Given the description of an element on the screen output the (x, y) to click on. 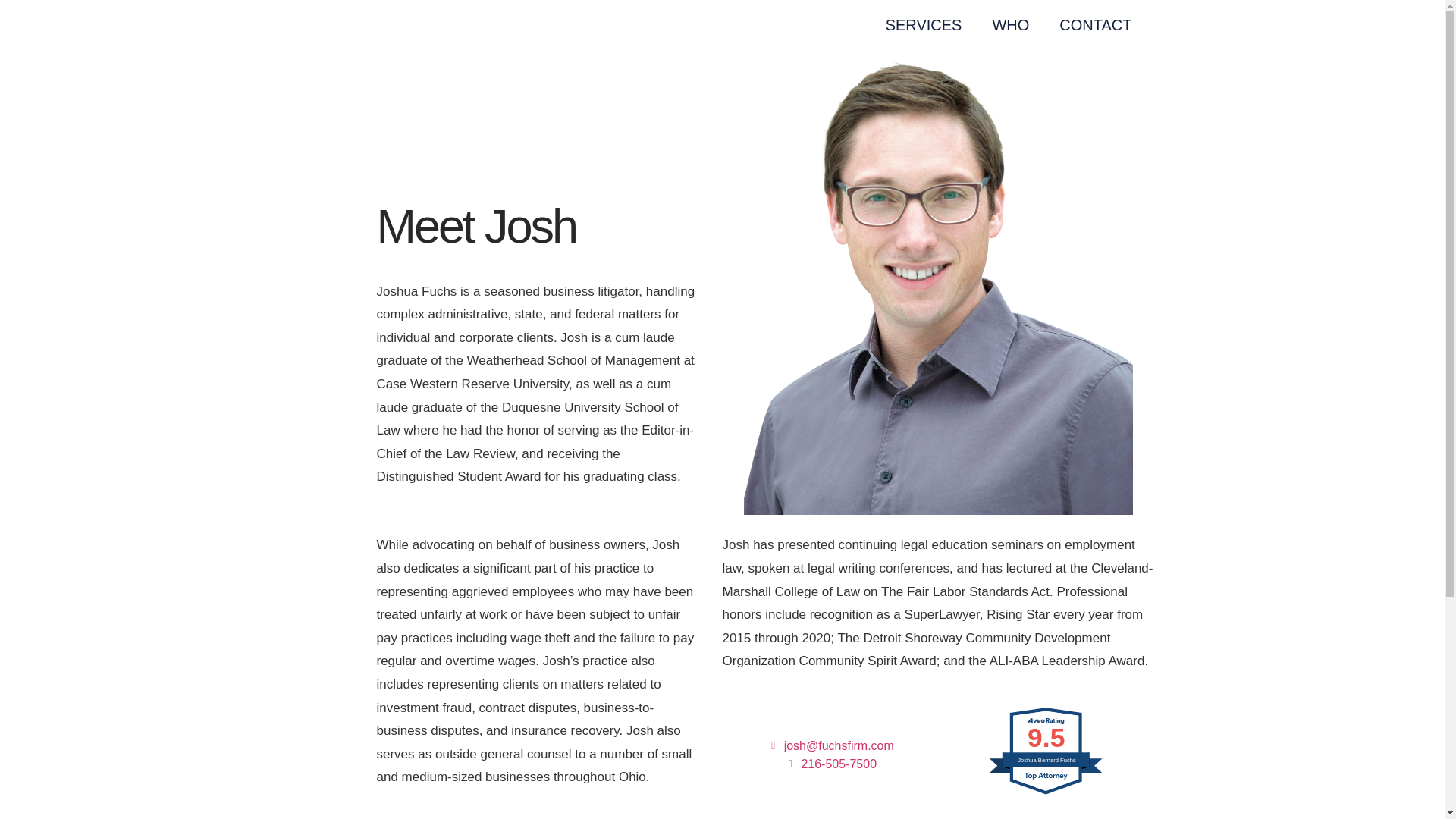
SERVICES (923, 24)
CONTACT (1095, 24)
216-505-7500 (829, 764)
WHO (1009, 24)
